Given the description of an element on the screen output the (x, y) to click on. 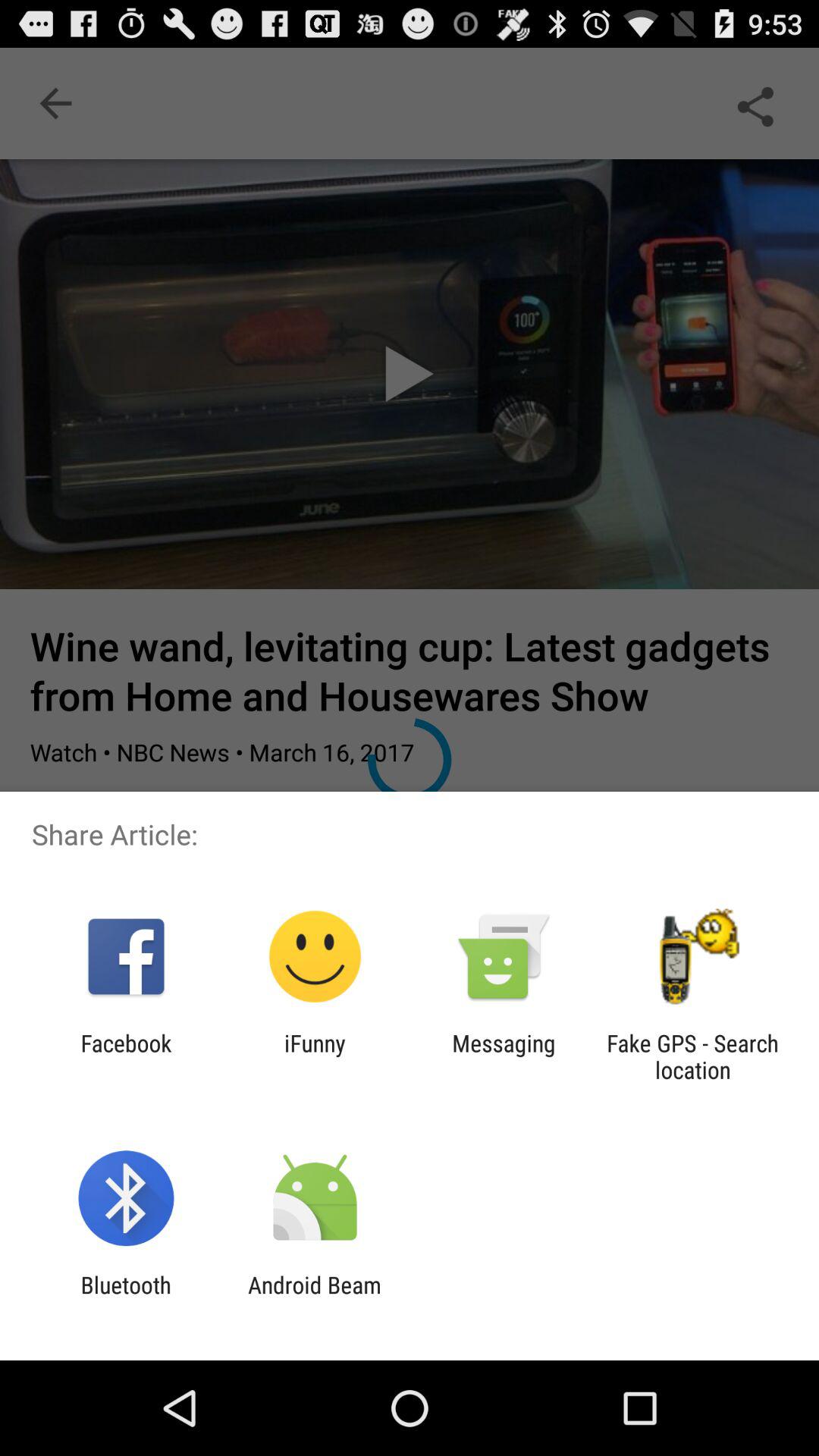
turn off app to the right of messaging item (692, 1056)
